Given the description of an element on the screen output the (x, y) to click on. 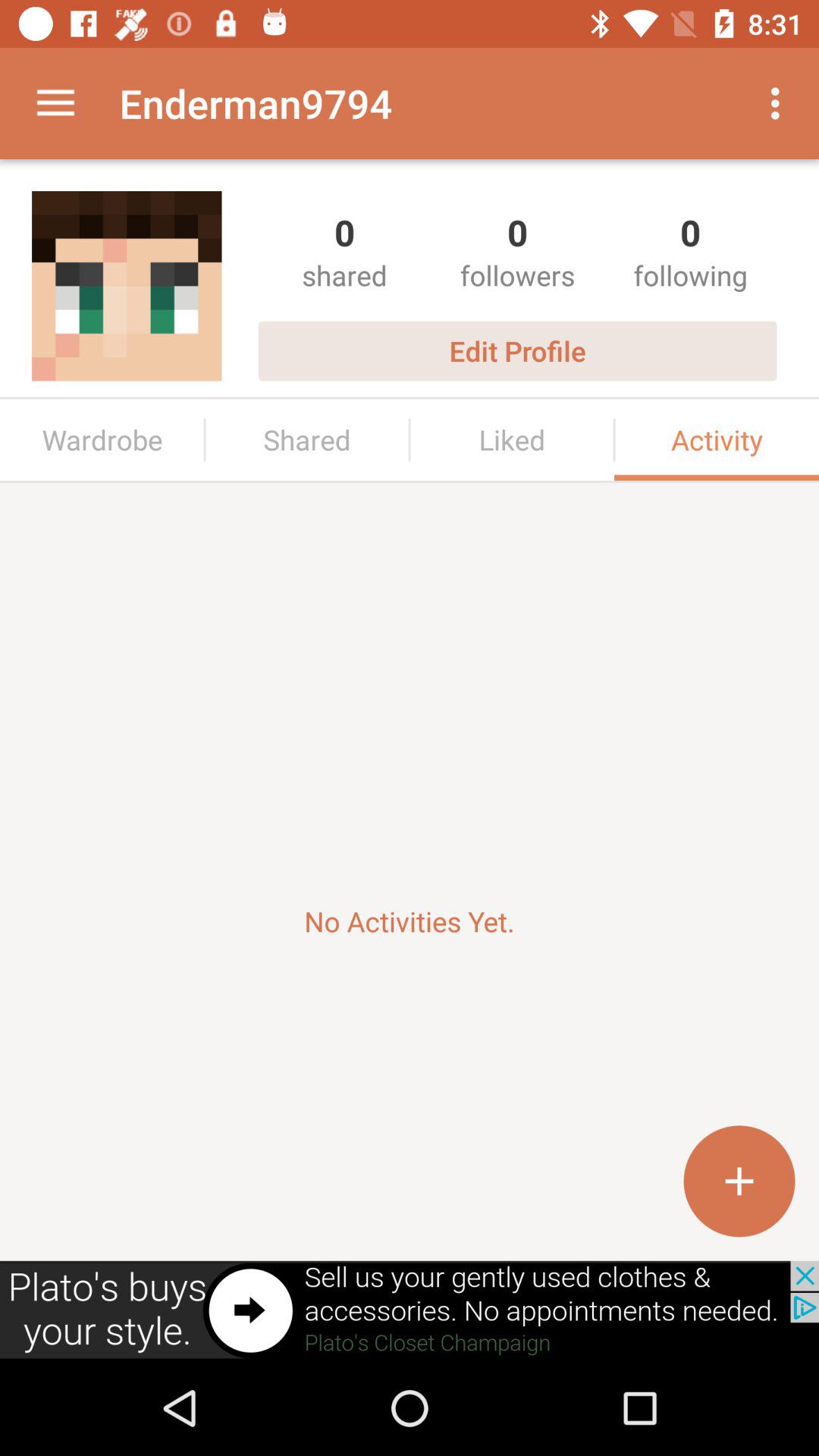
add icon (739, 1181)
